Given the description of an element on the screen output the (x, y) to click on. 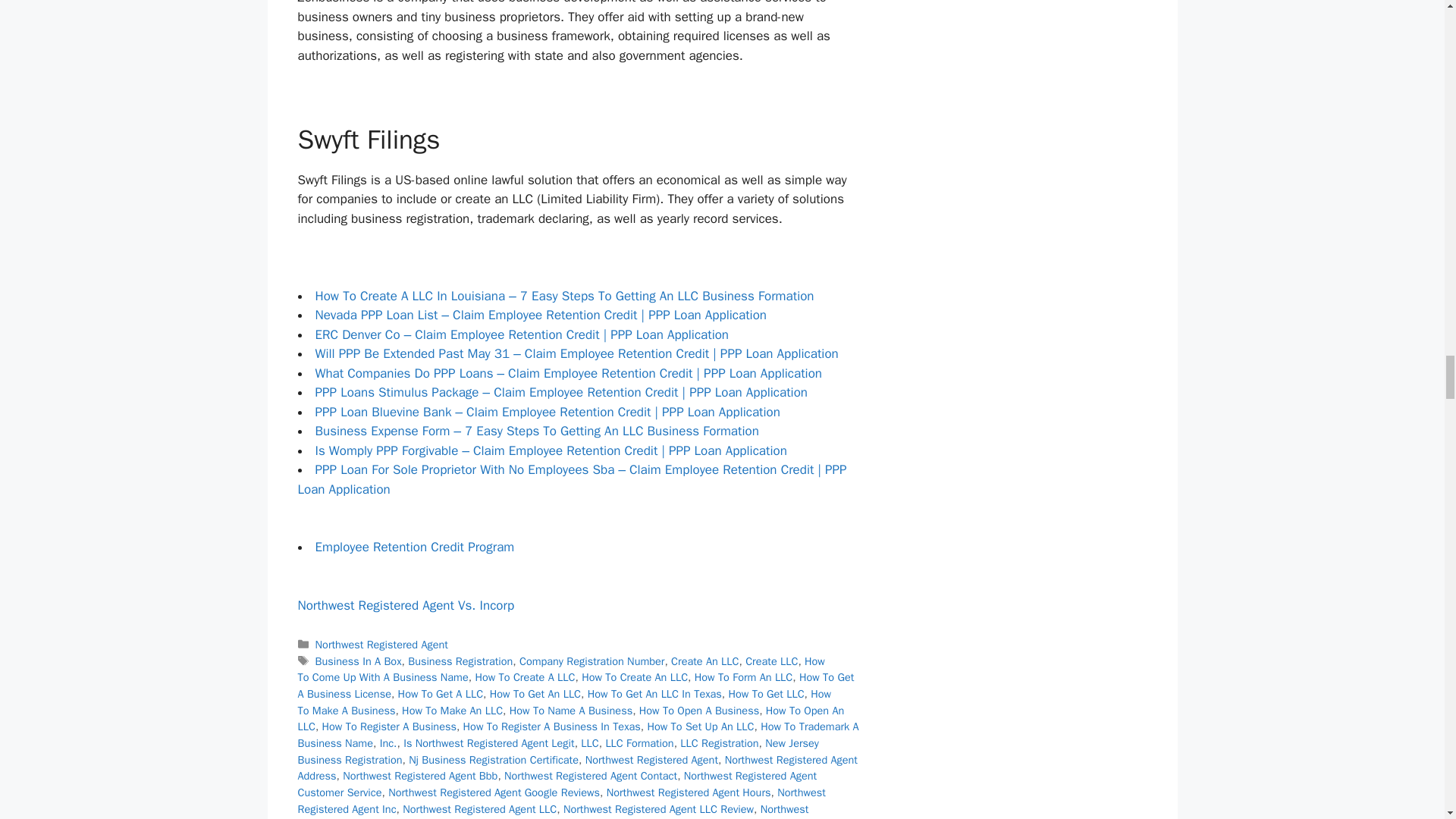
Create LLC (771, 661)
Create An LLC (704, 661)
Northwest Registered Agent (381, 644)
Business Registration (459, 661)
Employee Retention Credit Program (415, 546)
Business In A Box (358, 661)
Northwest Registered Agent Vs. Incorp (405, 605)
How To Come Up With A Business Name (560, 669)
Company Registration Number (591, 661)
